Given the description of an element on the screen output the (x, y) to click on. 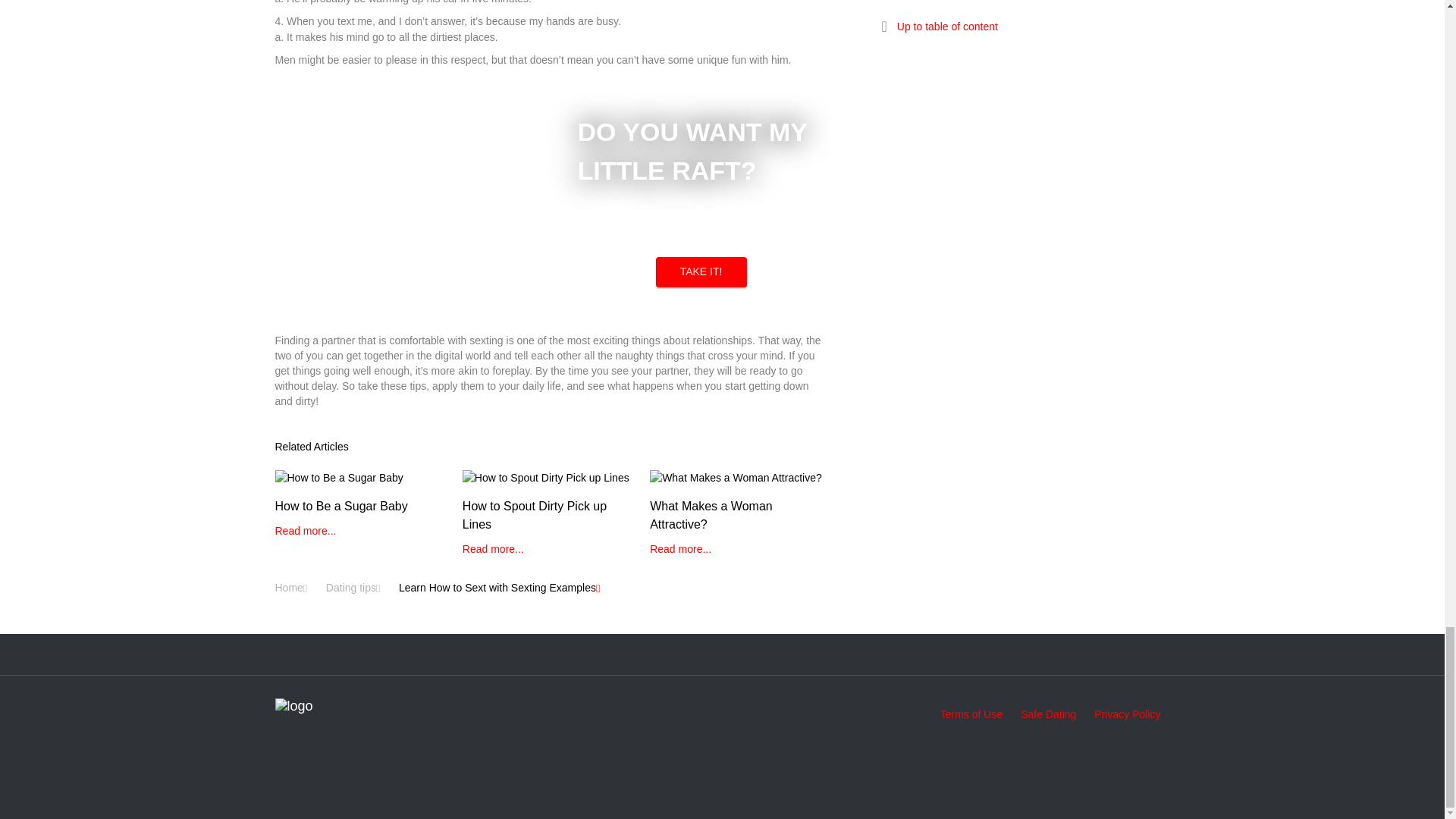
Home (288, 587)
How to Spout Dirty Pick up Lines (548, 513)
What Makes a Woman Attractive? (735, 513)
Safe Dating (1047, 714)
Privacy Policy (1127, 714)
Read more... (493, 549)
Dating tips (350, 587)
What Makes a Woman Attractive? (735, 513)
Terms of Use (971, 714)
Read more... (305, 530)
